Given the description of an element on the screen output the (x, y) to click on. 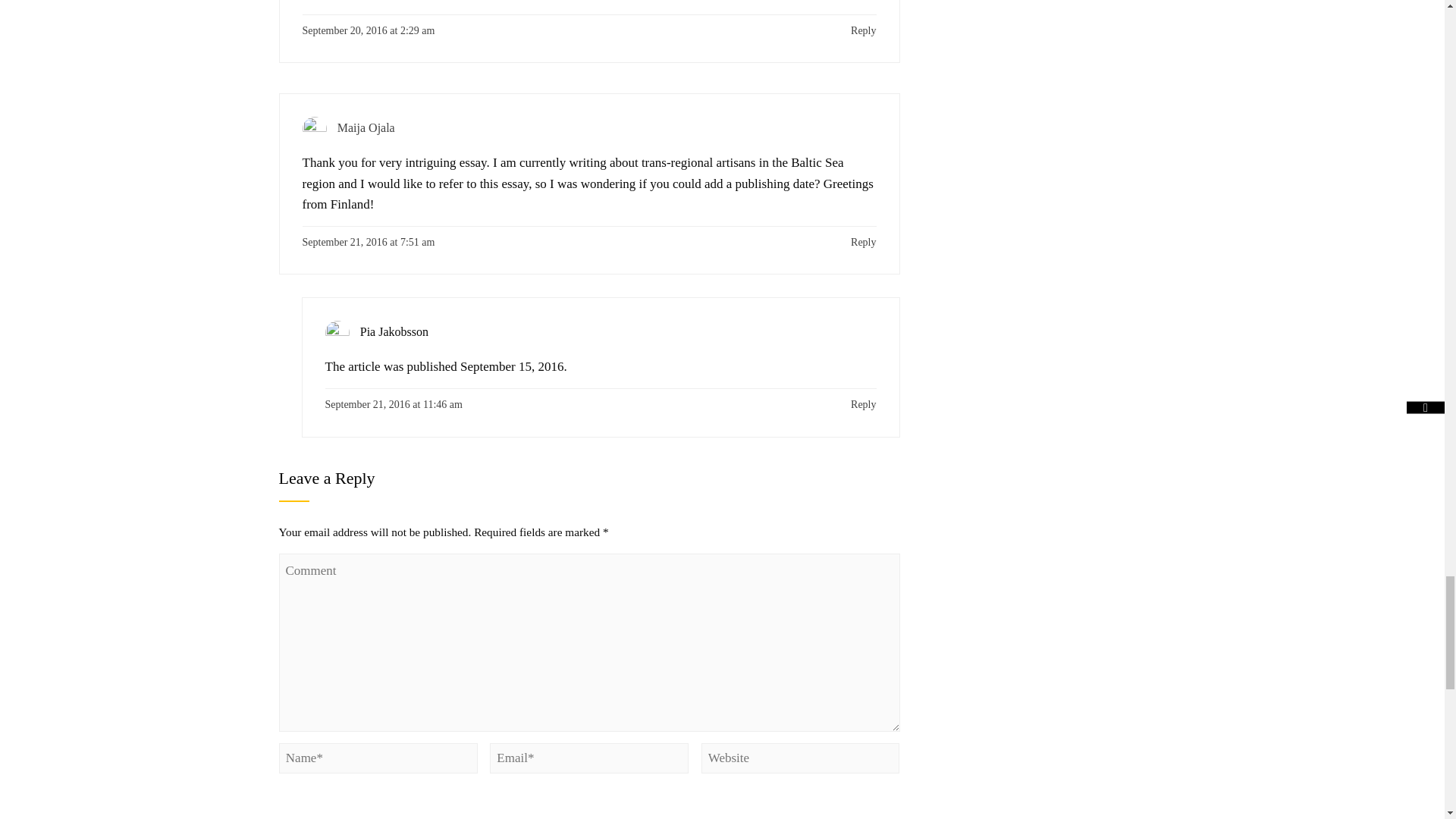
Post Comment (332, 799)
